Given the description of an element on the screen output the (x, y) to click on. 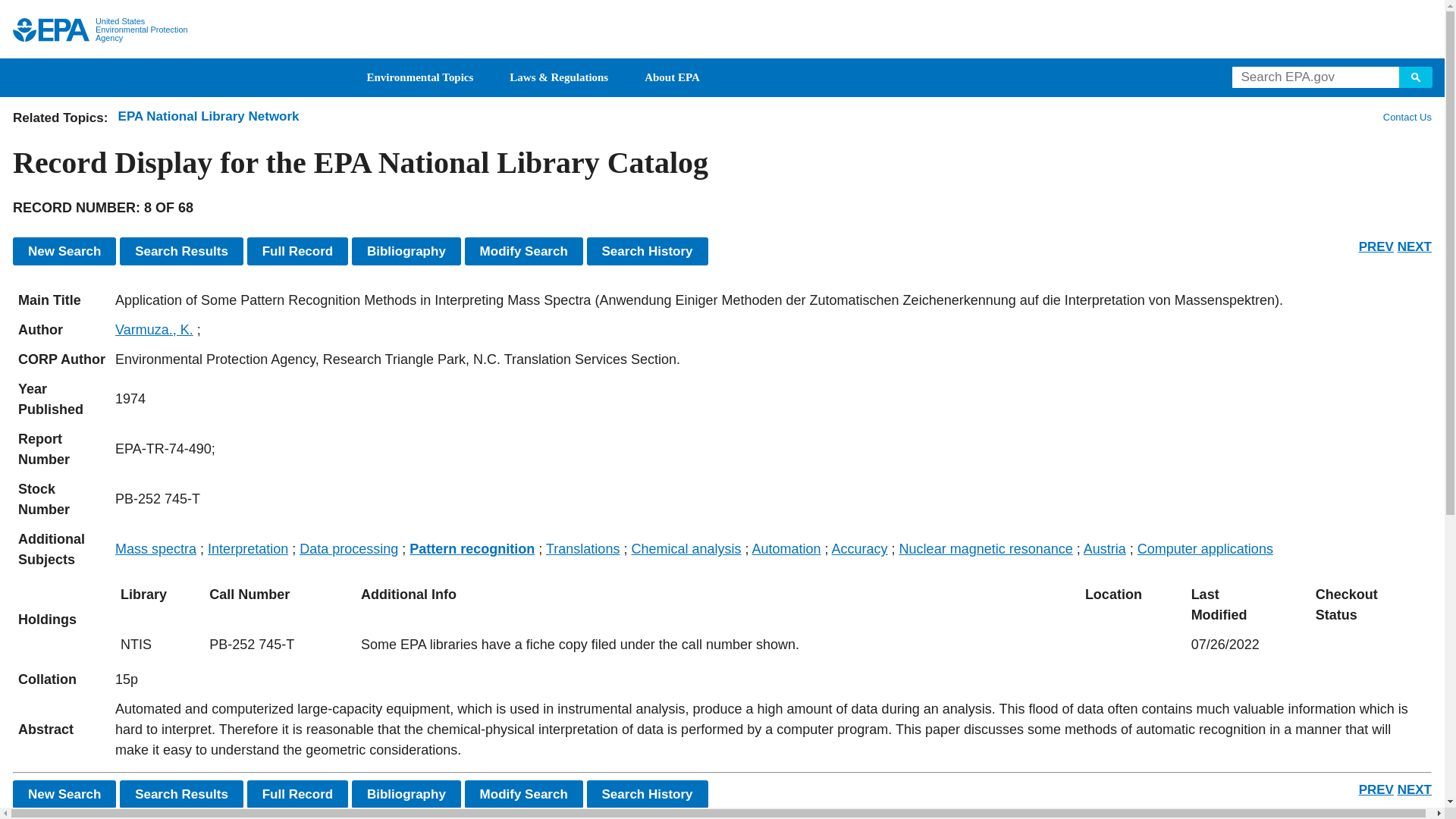
Jump to main content (723, 9)
NEXT (1414, 789)
Show results in standard format (181, 794)
Contact the EPA National Library Network (1407, 117)
Austria (1104, 548)
Contact Us (1406, 117)
New Search (64, 251)
Data processing (348, 548)
Search (1415, 76)
